Given the description of an element on the screen output the (x, y) to click on. 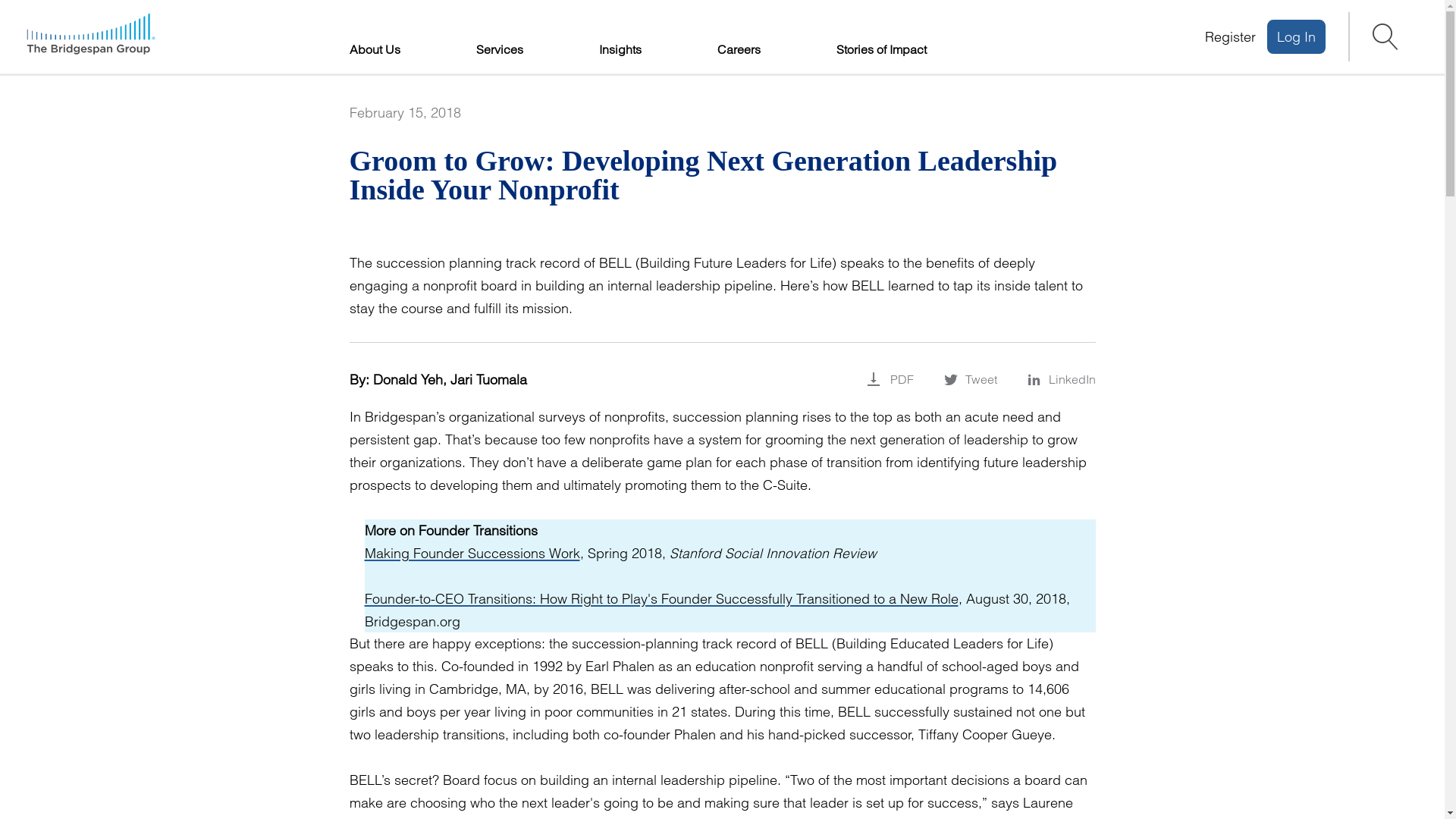
About Us (373, 49)
Home (90, 37)
Services (499, 49)
